Given the description of an element on the screen output the (x, y) to click on. 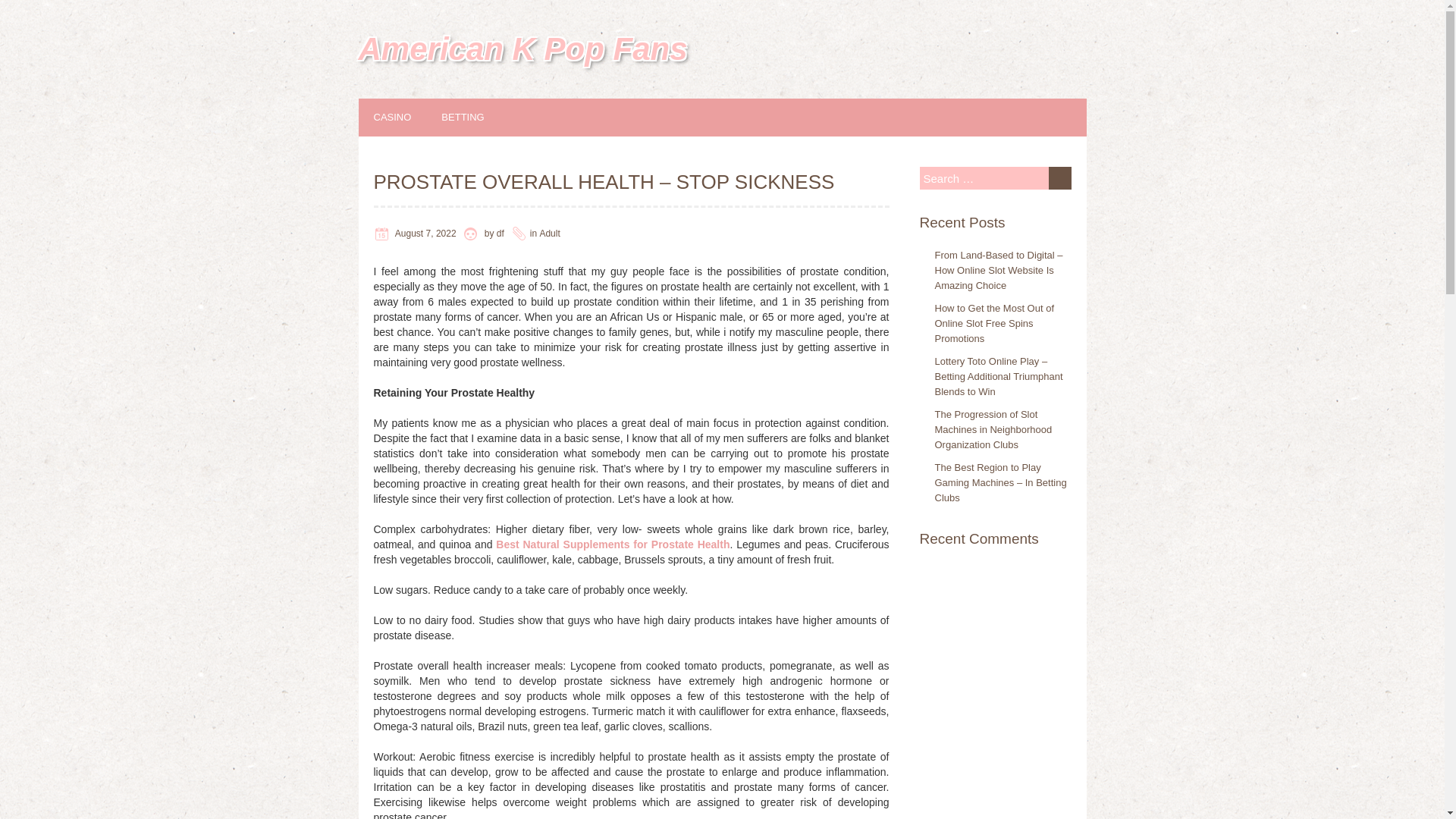
BETTING (477, 117)
Search (1059, 178)
August 7, 2022 (425, 233)
Best Natural Supplements for Prostate Health (612, 544)
Search (1059, 178)
American K Pop Fans (522, 48)
American K Pop Fans (522, 48)
CASINO (407, 117)
How to Get the Most Out of Online Slot Free Spins Promotions (994, 322)
Search (1059, 178)
